Given the description of an element on the screen output the (x, y) to click on. 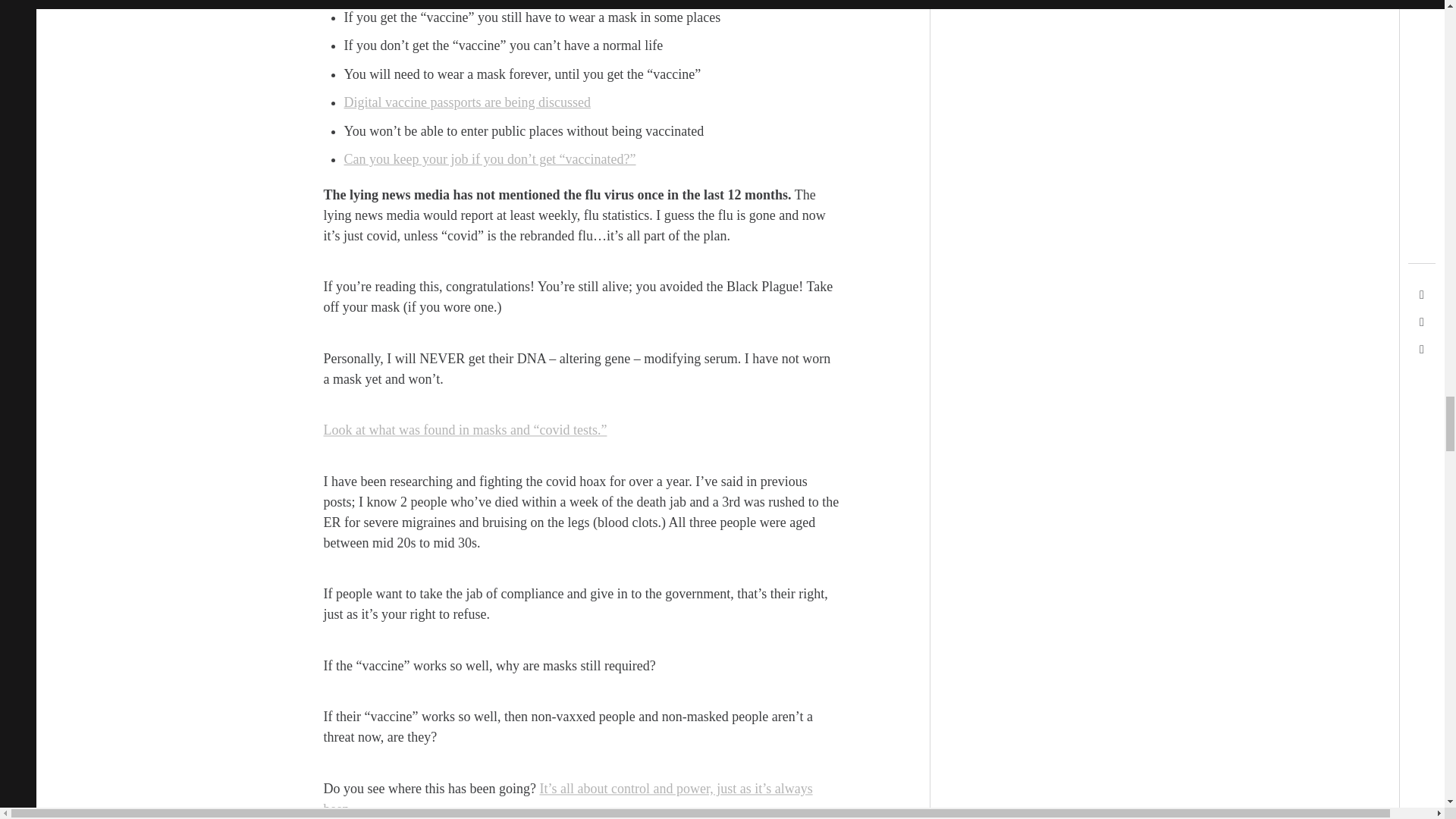
Digital vaccine passports are being discussed (467, 102)
